Given the description of an element on the screen output the (x, y) to click on. 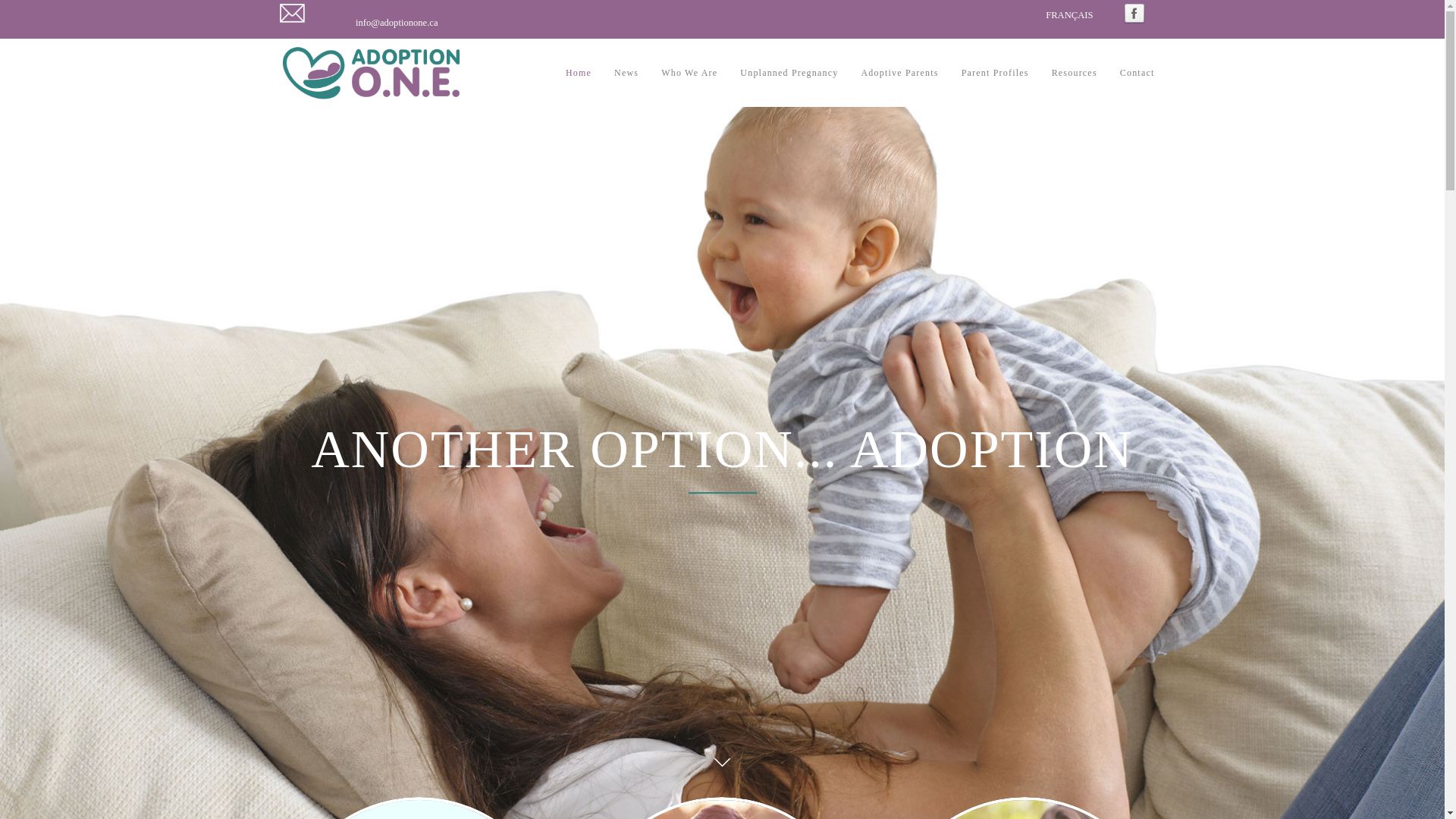
Contact Element type: text (1137, 72)
Parent Profiles Element type: text (995, 72)
info@adoptionone.ca Element type: text (396, 22)
Unplanned Pregnancy Element type: text (788, 72)
Home Element type: text (578, 72)
Adoptive Parents Element type: text (899, 72)
Adoption One Element type: hover (371, 72)
Resources Element type: text (1074, 72)
Who We Are Element type: text (689, 72)
News Element type: text (626, 72)
